Given the description of an element on the screen output the (x, y) to click on. 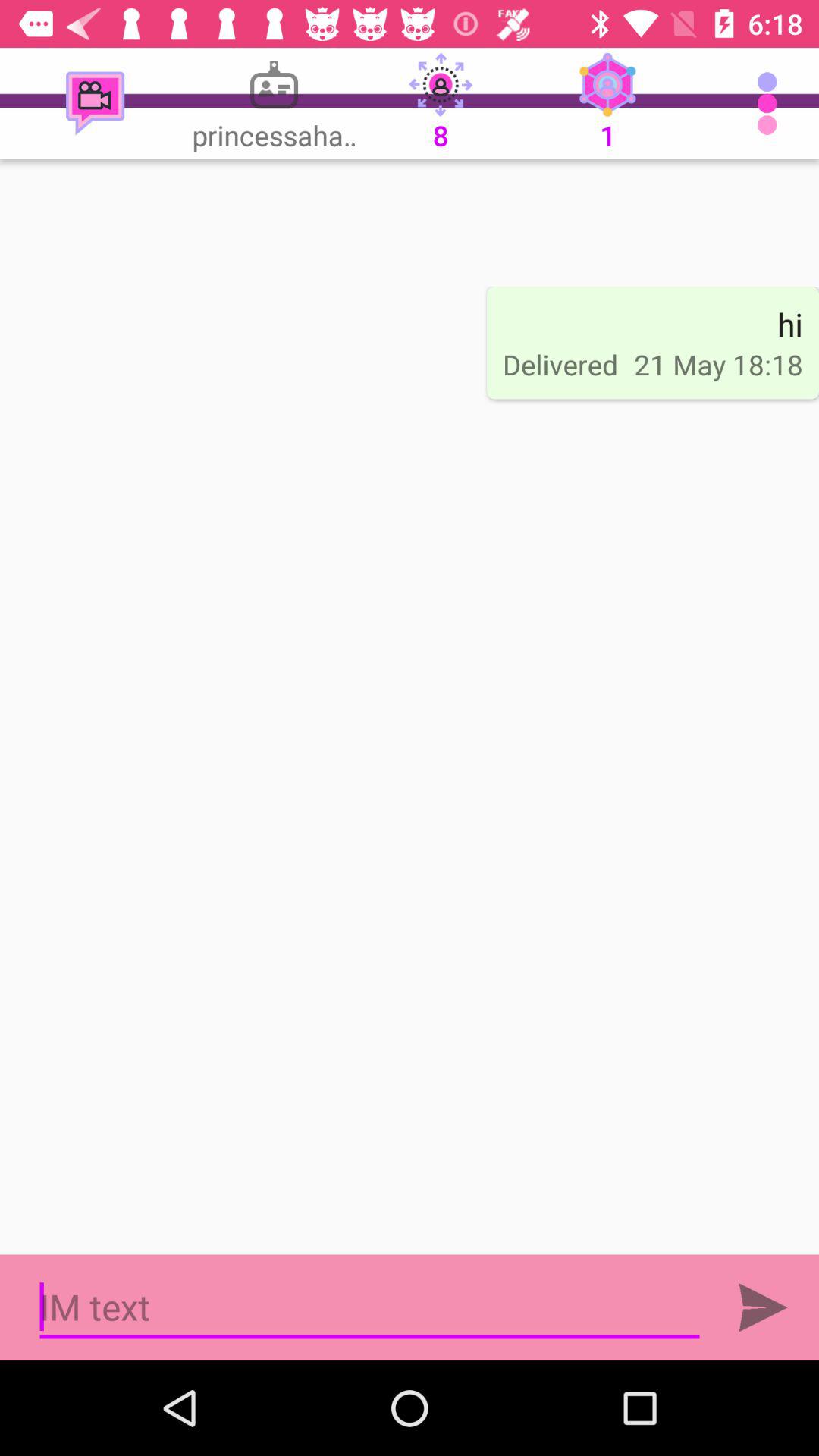
send (763, 1307)
